Given the description of an element on the screen output the (x, y) to click on. 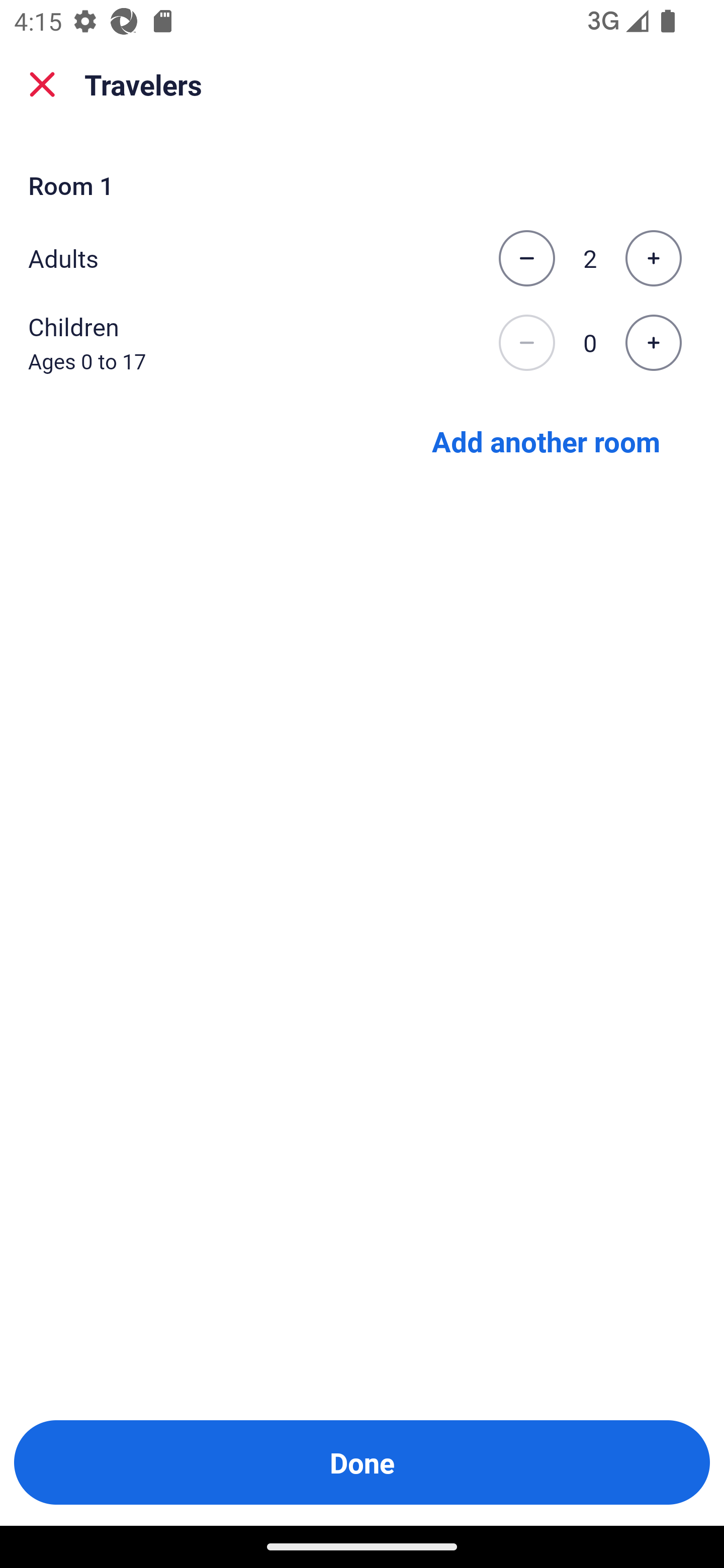
close (42, 84)
Decrease the number of adults (526, 258)
Increase the number of adults (653, 258)
Decrease the number of children (526, 343)
Increase the number of children (653, 343)
Add another room (545, 440)
Done (361, 1462)
